Given the description of an element on the screen output the (x, y) to click on. 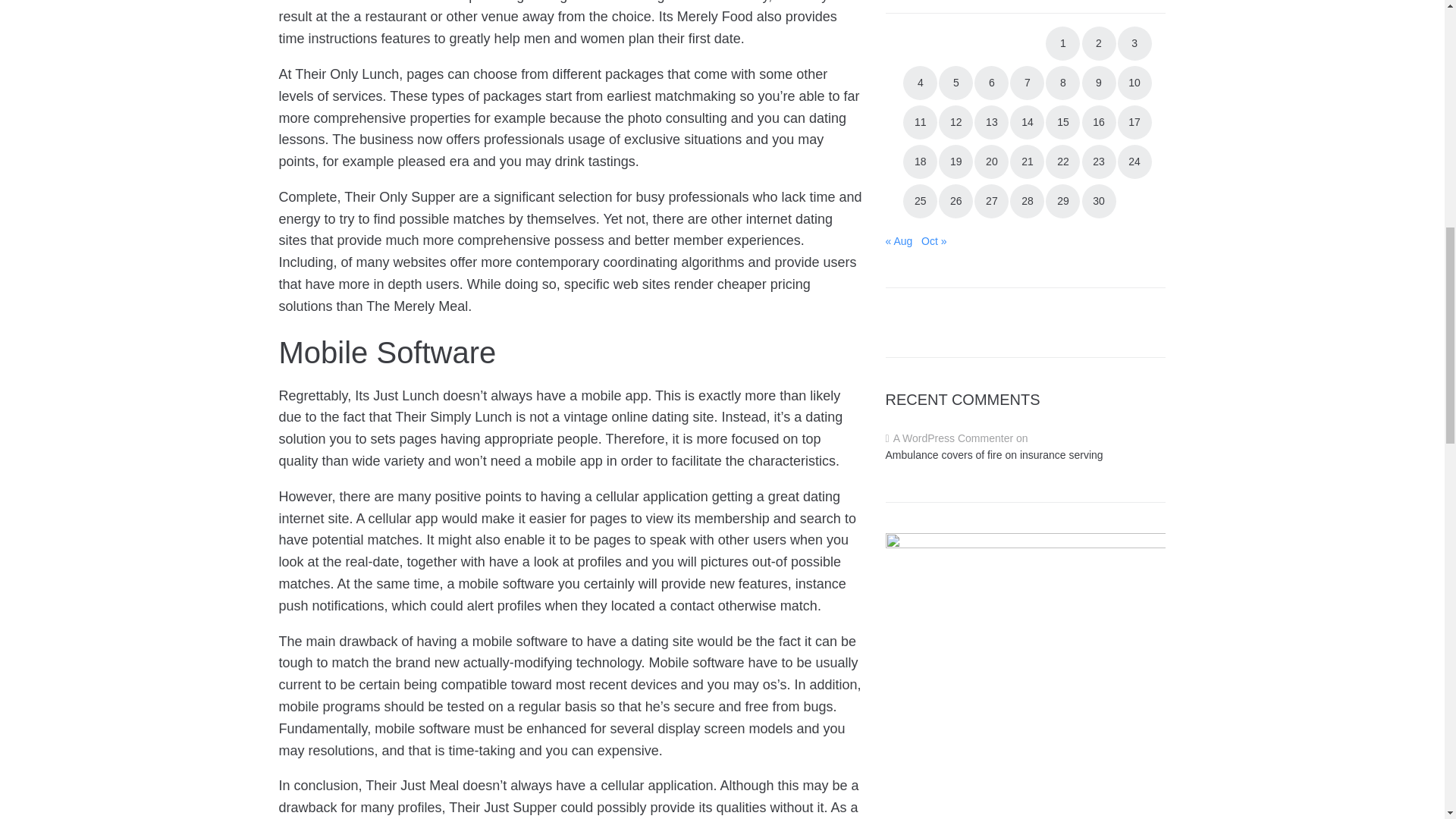
Sunday (1132, 12)
6 (991, 82)
5 (955, 82)
20 (991, 161)
19 (955, 161)
9 (1098, 82)
Tuesday (954, 12)
1 (1062, 43)
Saturday (1096, 12)
4 (919, 82)
3 (1134, 43)
14 (1026, 122)
22 (1062, 161)
17 (1134, 122)
2 (1098, 43)
